Given the description of an element on the screen output the (x, y) to click on. 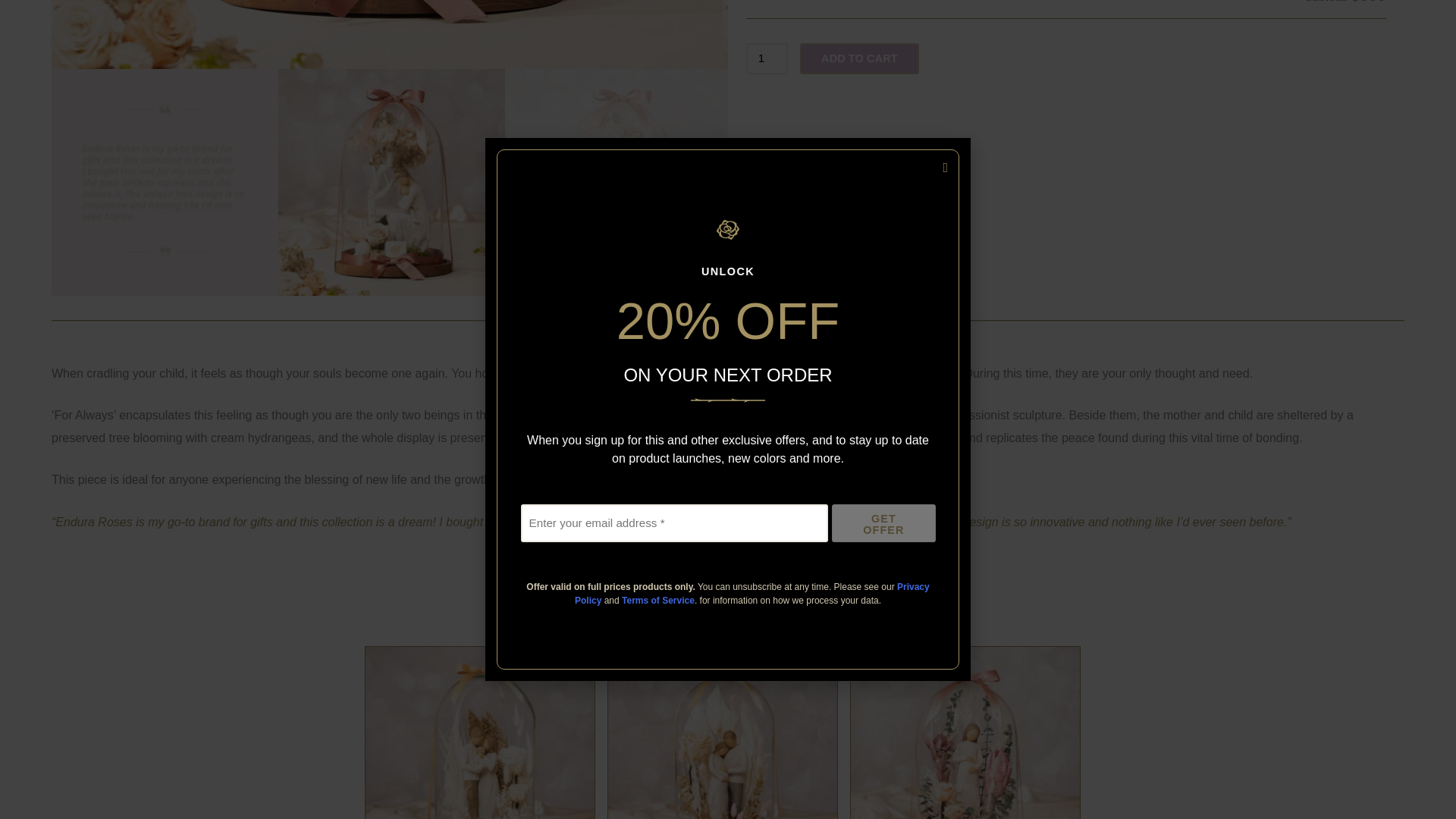
For Always 2 (386, 34)
For Always 2 (1057, 34)
